Given the description of an element on the screen output the (x, y) to click on. 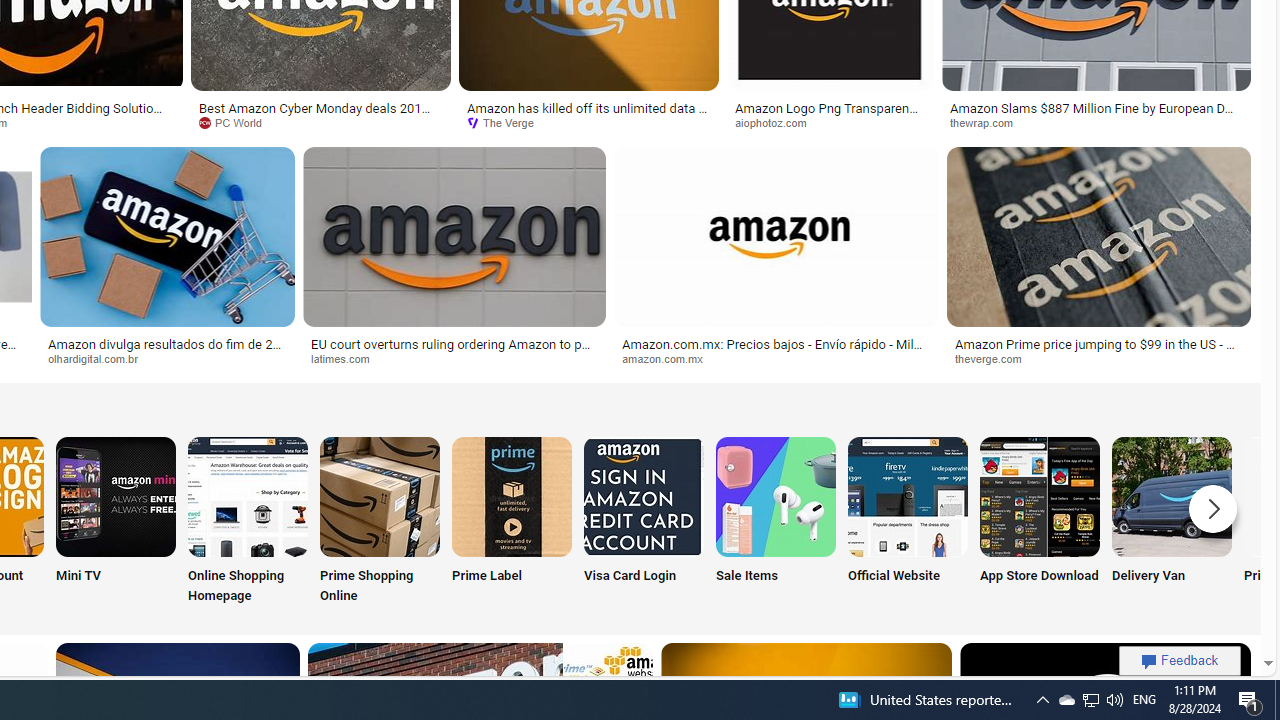
amazon.com.mx (776, 359)
amazon.com.mx (669, 358)
Amazon Prime Shopping Online (380, 496)
Sale Items (775, 521)
Amazon Prime price jumping to $99 in the US - The Verge (1098, 350)
thewrap.com (987, 121)
Visa Card Login (643, 521)
PC World (237, 121)
Amazon App Store Download (1039, 496)
Amazon Mini TV Mini TV (116, 521)
Amazon Visa Card Login (643, 496)
Amazon Sale Items (775, 496)
